Given the description of an element on the screen output the (x, y) to click on. 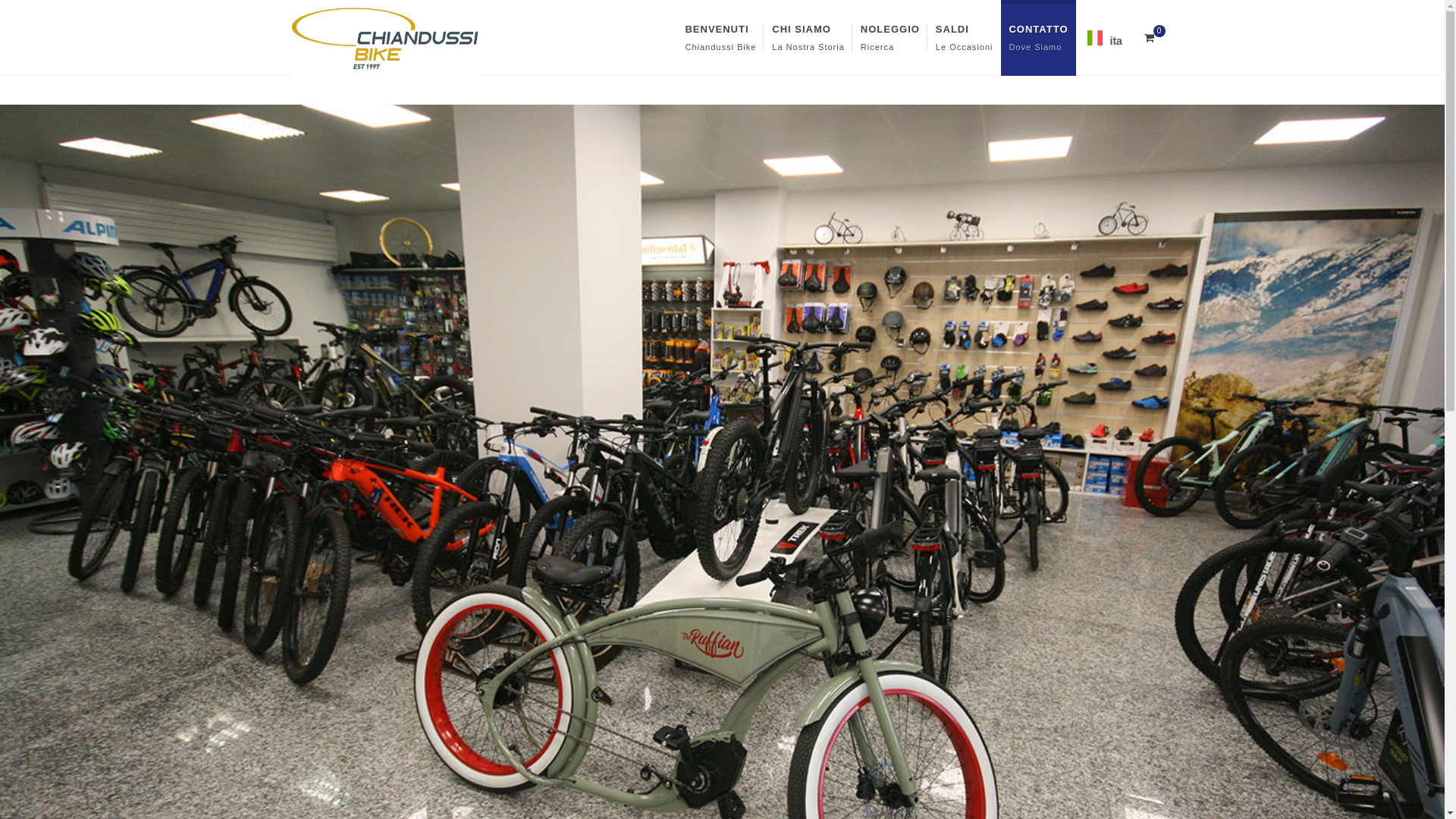
SALDI
Le Occasioni Element type: text (964, 37)
NOLEGGIO
Ricerca Element type: text (890, 37)
0 Element type: text (1148, 35)
CHI SIAMO
La Nostra Storia Element type: text (807, 37)
BENVENUTI
Chiandussi Bike Element type: text (720, 37)
CONTATTO
Dove Siamo Element type: text (1038, 37)
